Given the description of an element on the screen output the (x, y) to click on. 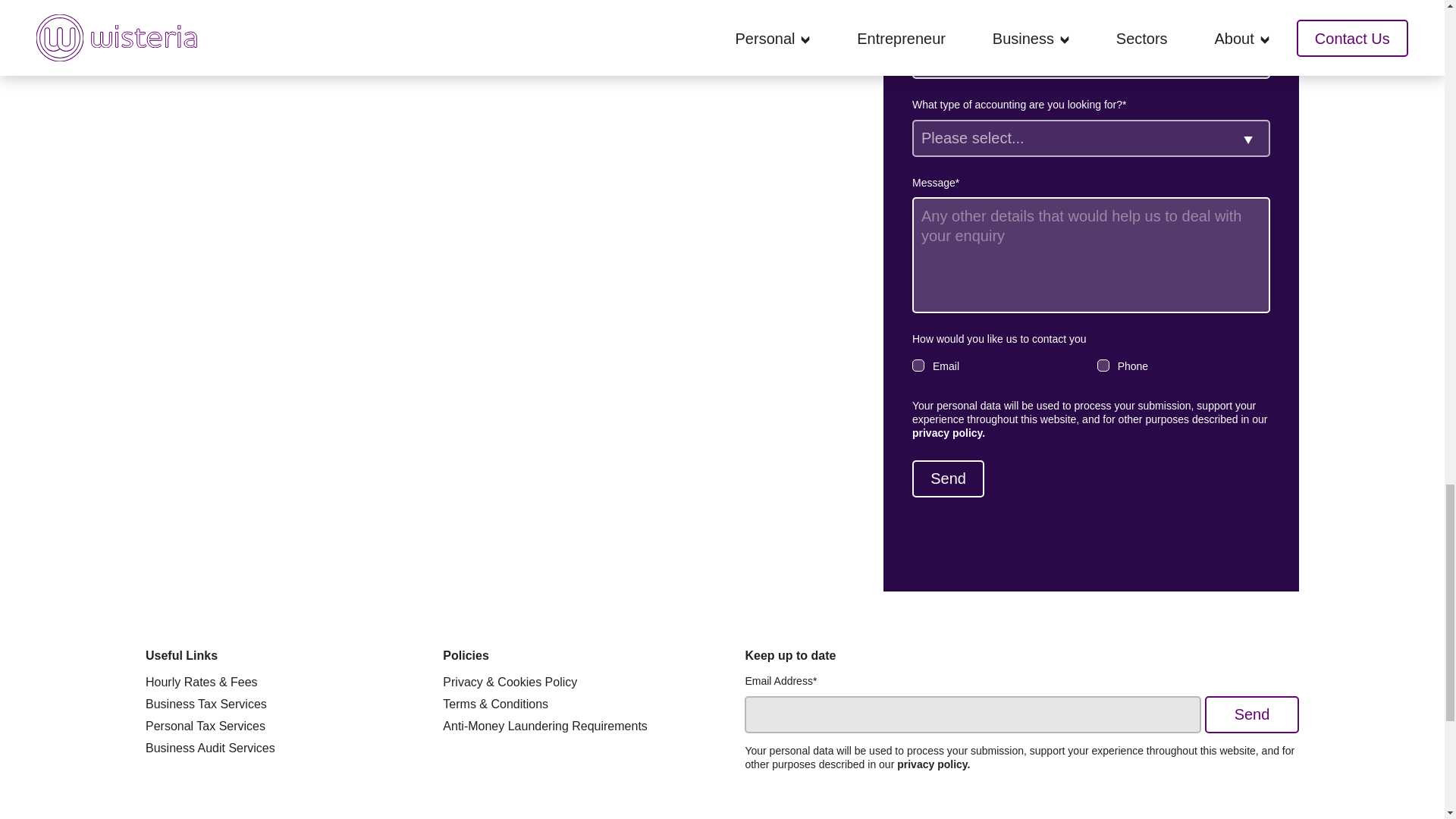
email (918, 365)
phone (1103, 365)
privacy policy. (948, 432)
